Given the description of an element on the screen output the (x, y) to click on. 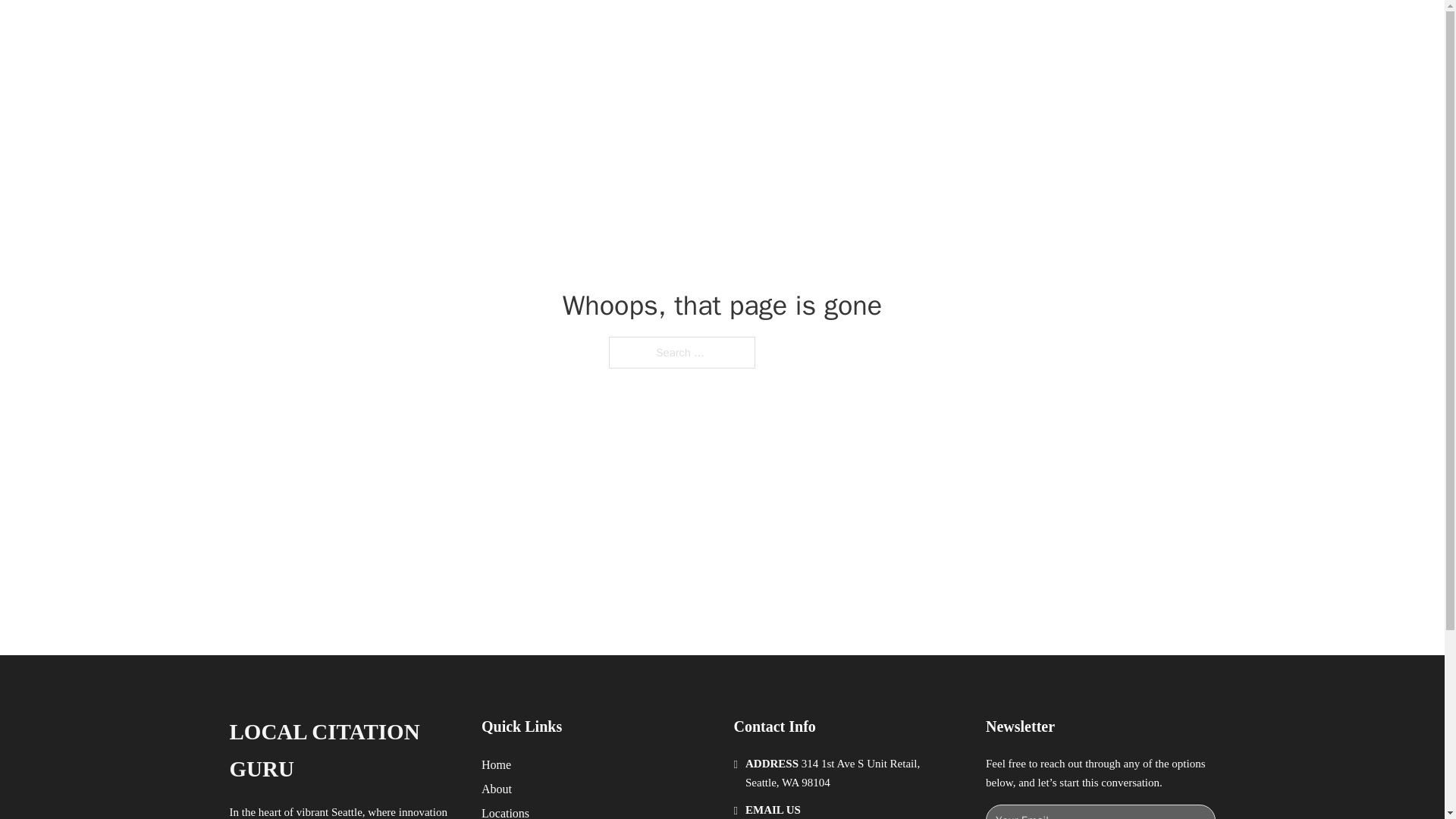
HOME (919, 29)
LOCATIONS (990, 29)
About (496, 788)
LOCAL CITATION GURU (422, 28)
Home (496, 764)
LOCAL CITATION GURU (343, 750)
Locations (505, 811)
